Given the description of an element on the screen output the (x, y) to click on. 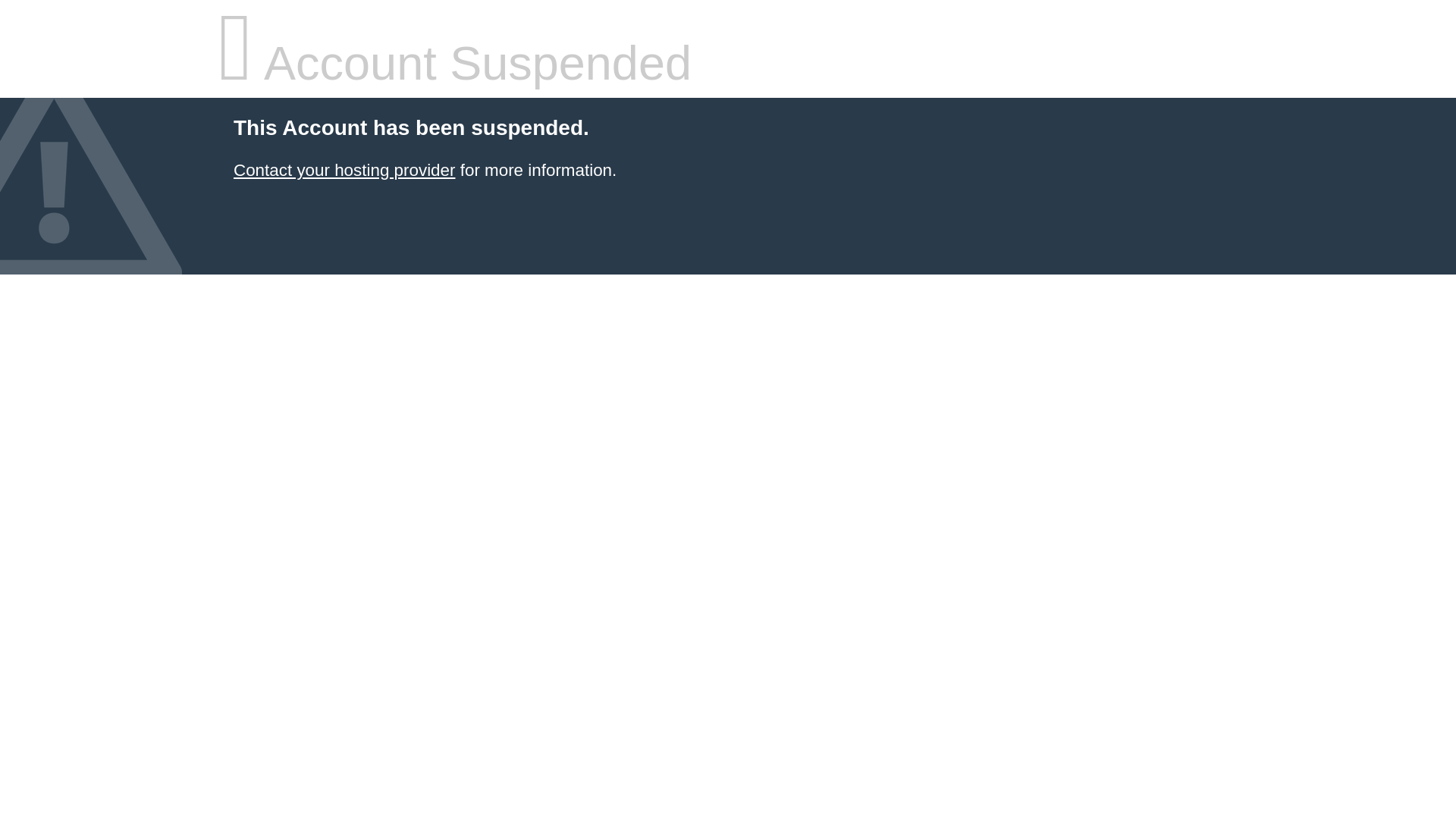
Contact your hosting provider (343, 169)
